Given the description of an element on the screen output the (x, y) to click on. 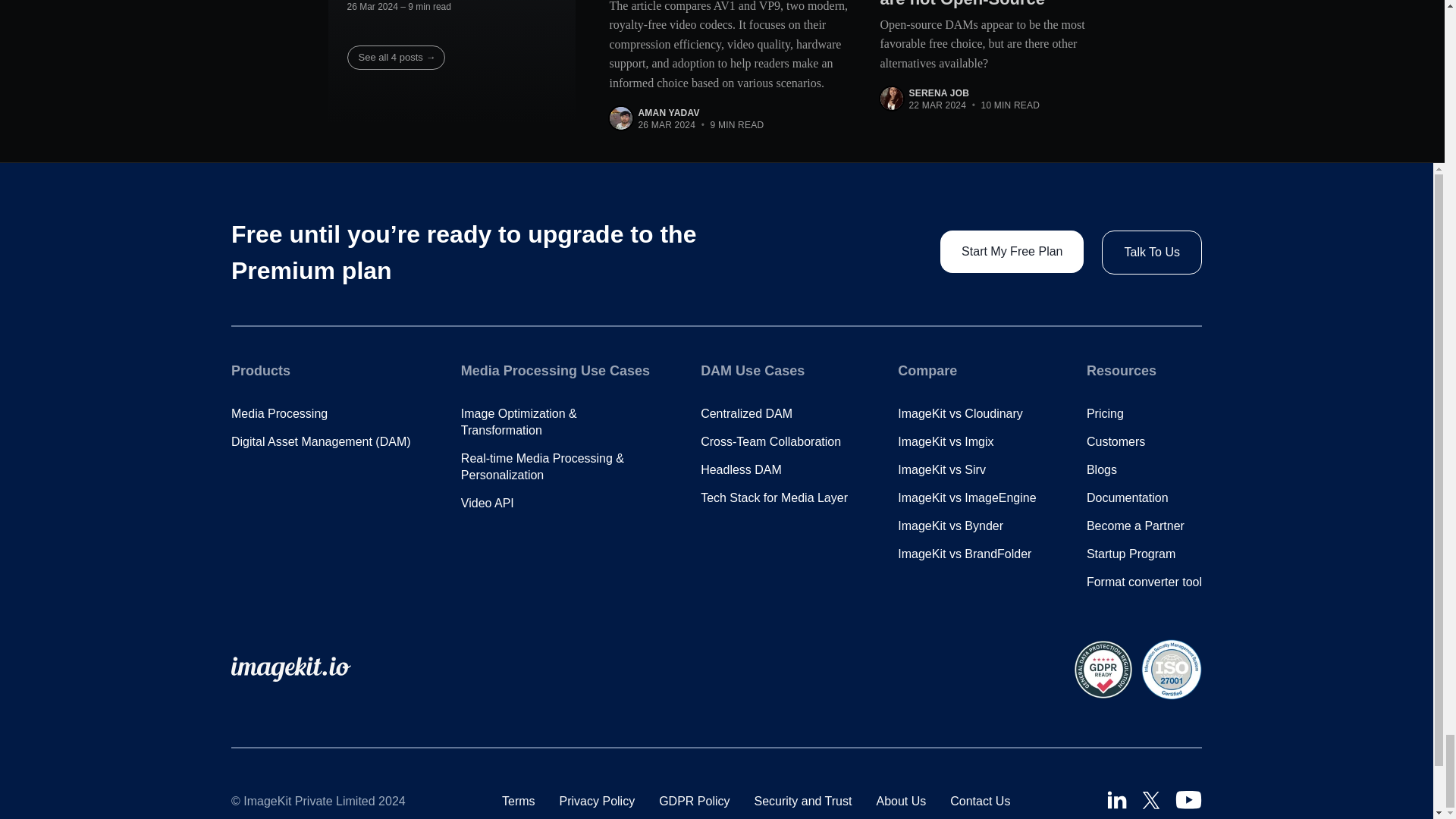
SERENA JOB (938, 92)
AMAN YADAV (669, 112)
